Given the description of an element on the screen output the (x, y) to click on. 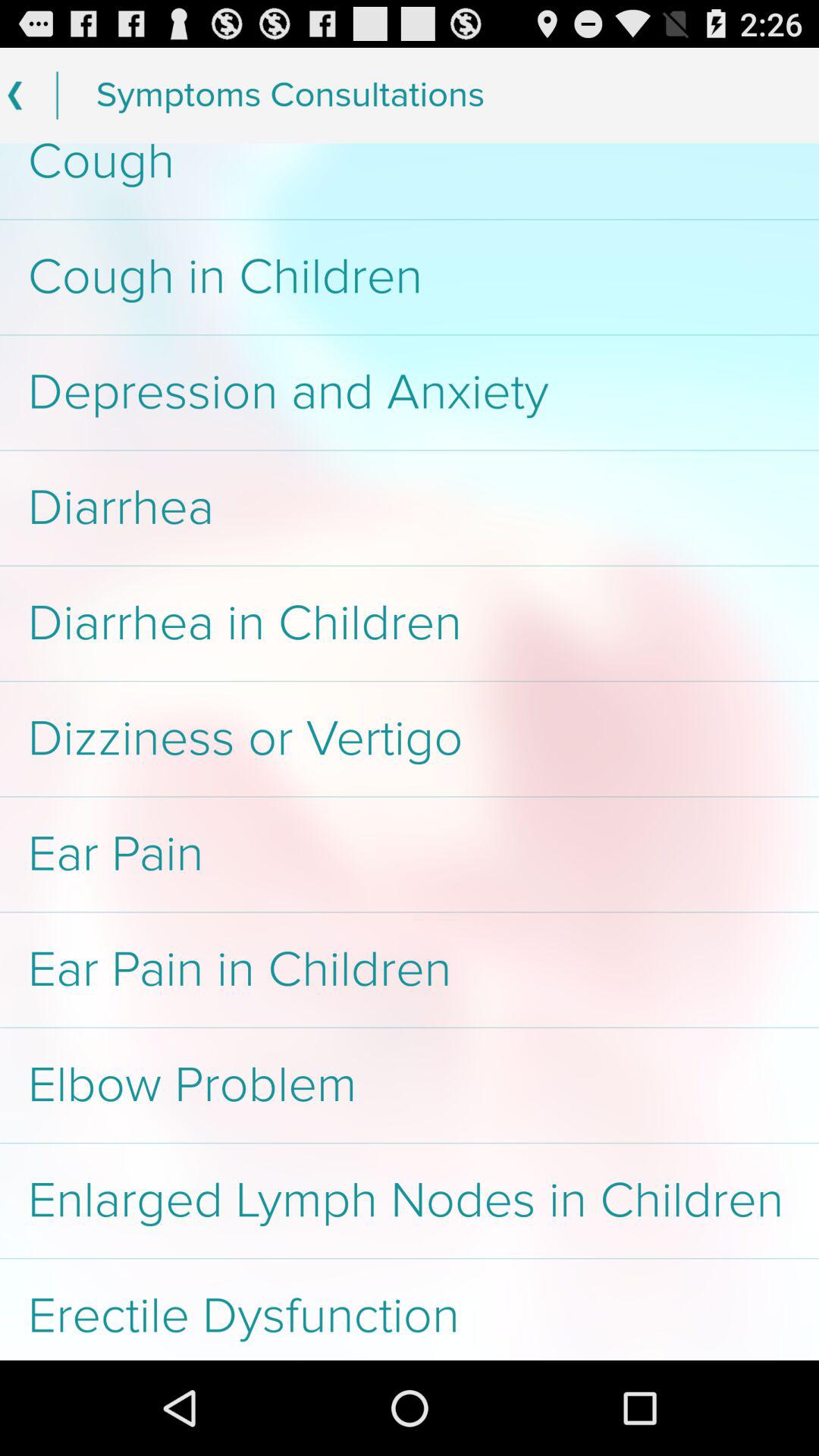
open item below diarrhea in children icon (409, 738)
